Given the description of an element on the screen output the (x, y) to click on. 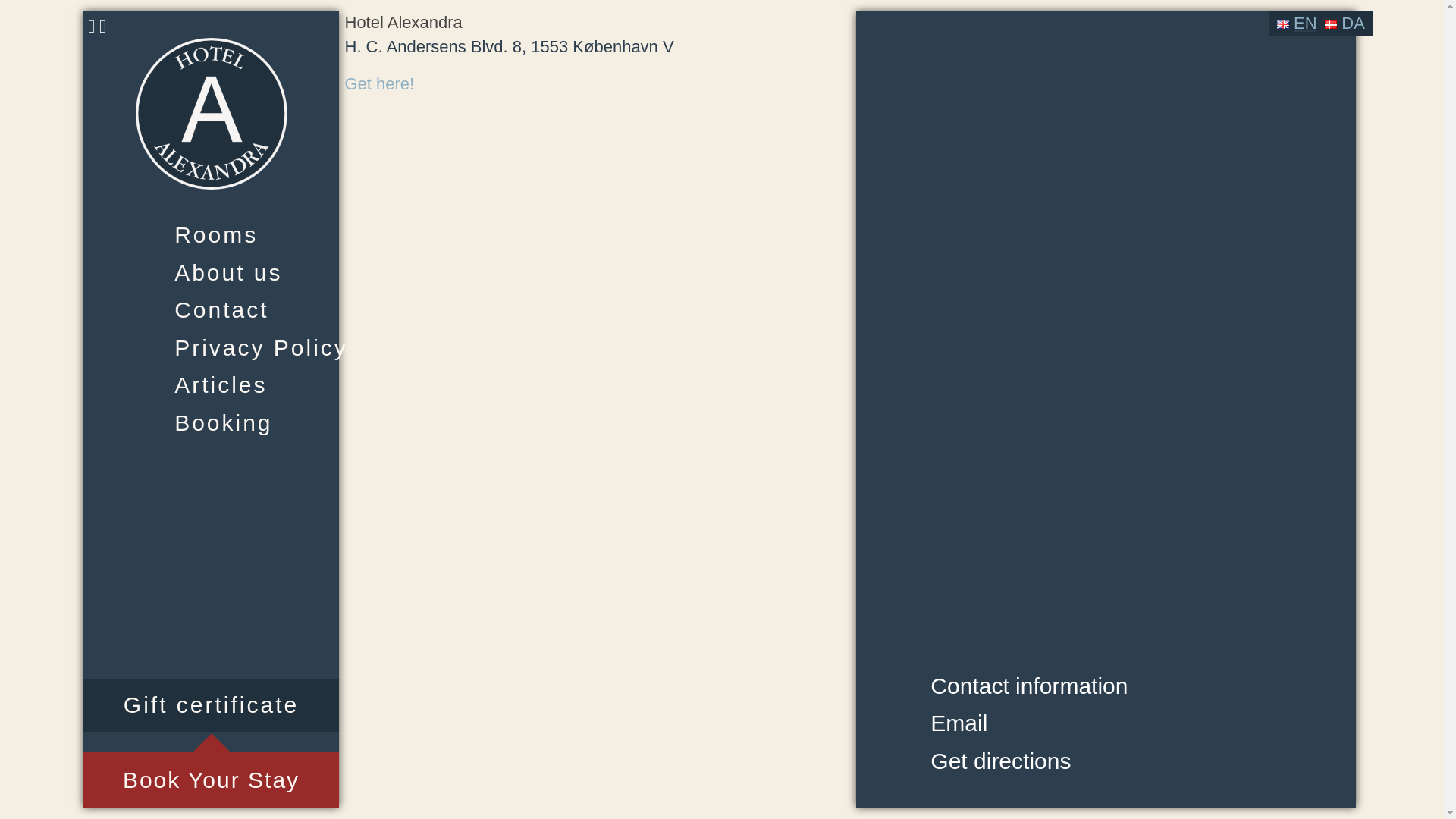
EN (1296, 23)
Privacy Policy (208, 347)
Get here! (378, 83)
Email (1028, 723)
Gift certificate (210, 704)
Rooms (208, 234)
Booking (208, 422)
About us (208, 272)
Contact (208, 310)
Contact information (1028, 686)
